Given the description of an element on the screen output the (x, y) to click on. 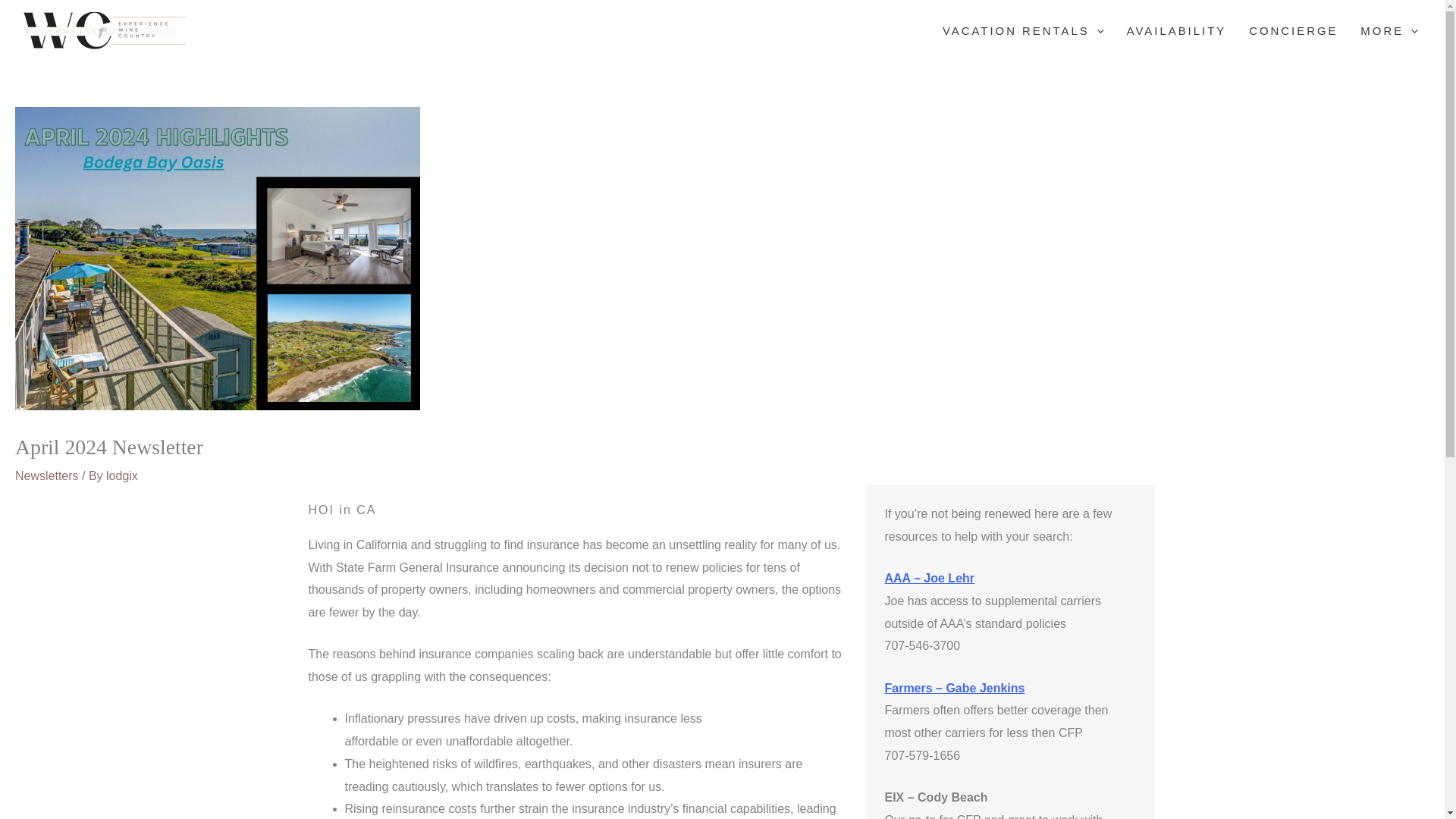
Newsletters (46, 475)
VACATION RENTALS (1023, 30)
lodgix (122, 475)
MORE (1389, 30)
AVAILABILITY (1177, 30)
View all posts by lodgix (122, 475)
CONCIERGE (1293, 30)
